Given the description of an element on the screen output the (x, y) to click on. 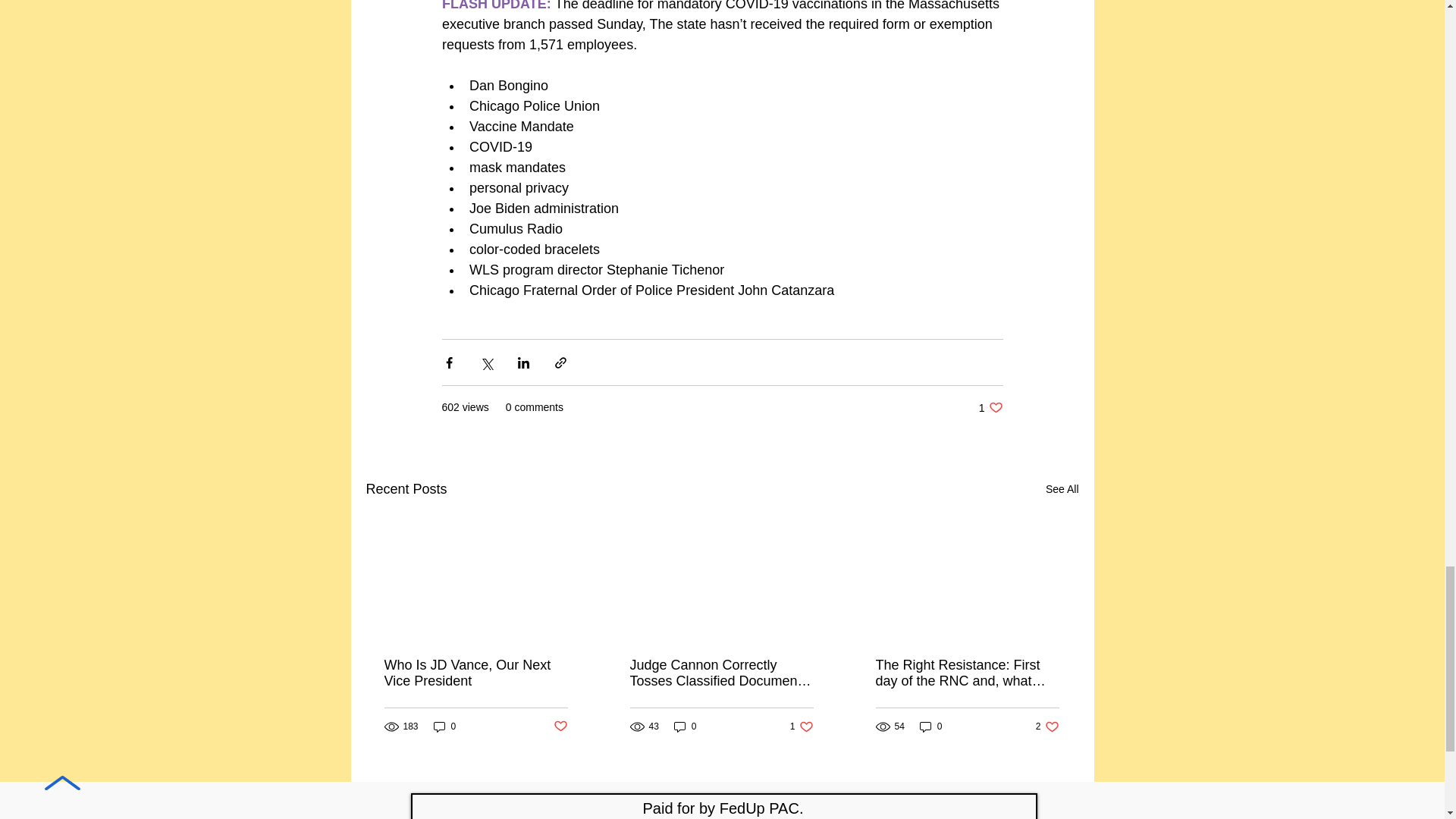
Who Is JD Vance, Our Next Vice President (475, 673)
Post not marked as liked (560, 726)
0 (445, 726)
See All (1061, 489)
0 (801, 726)
